Given the description of an element on the screen output the (x, y) to click on. 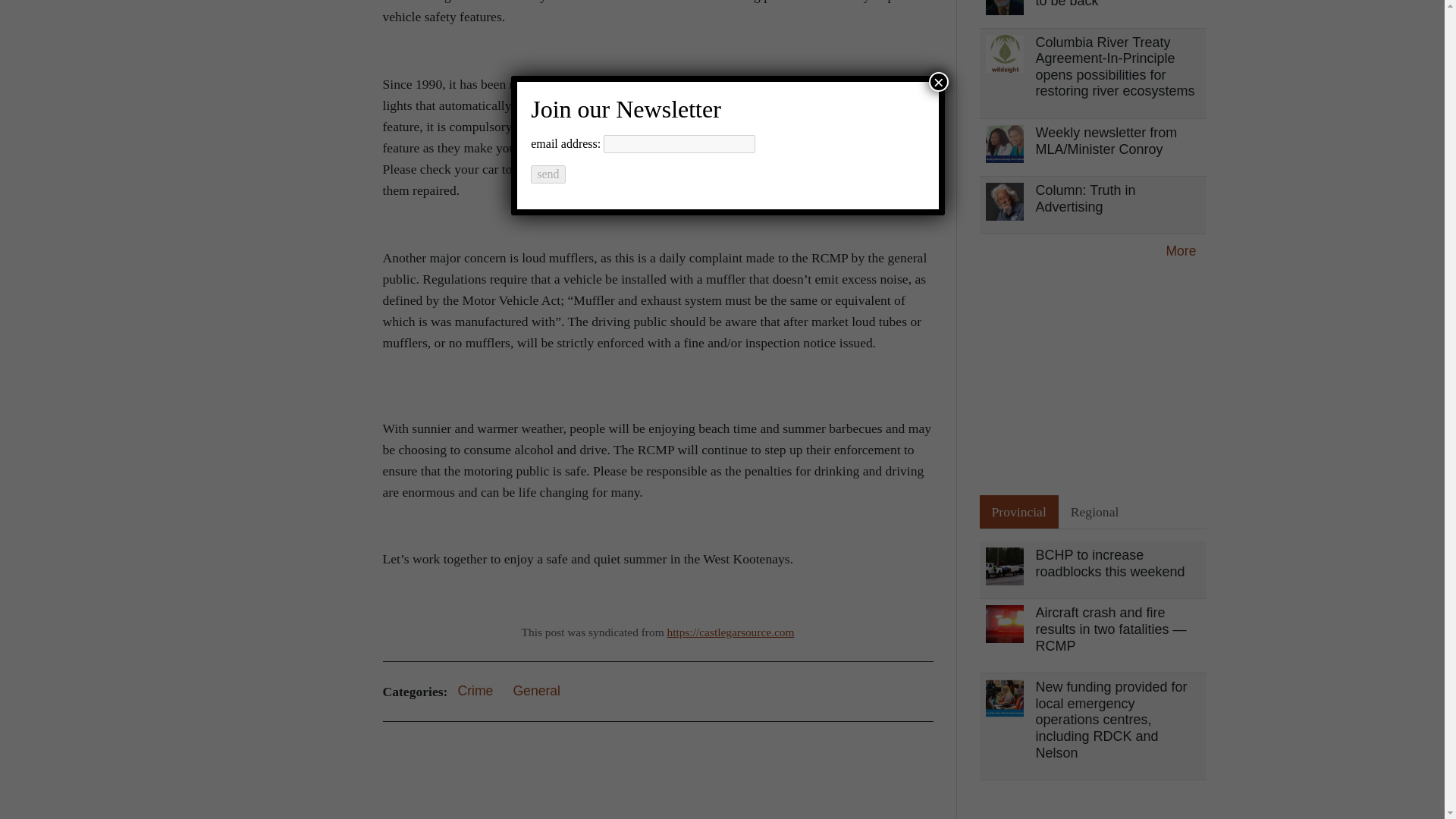
FROM THE HILL: It's good to be back (1116, 4)
